Given the description of an element on the screen output the (x, y) to click on. 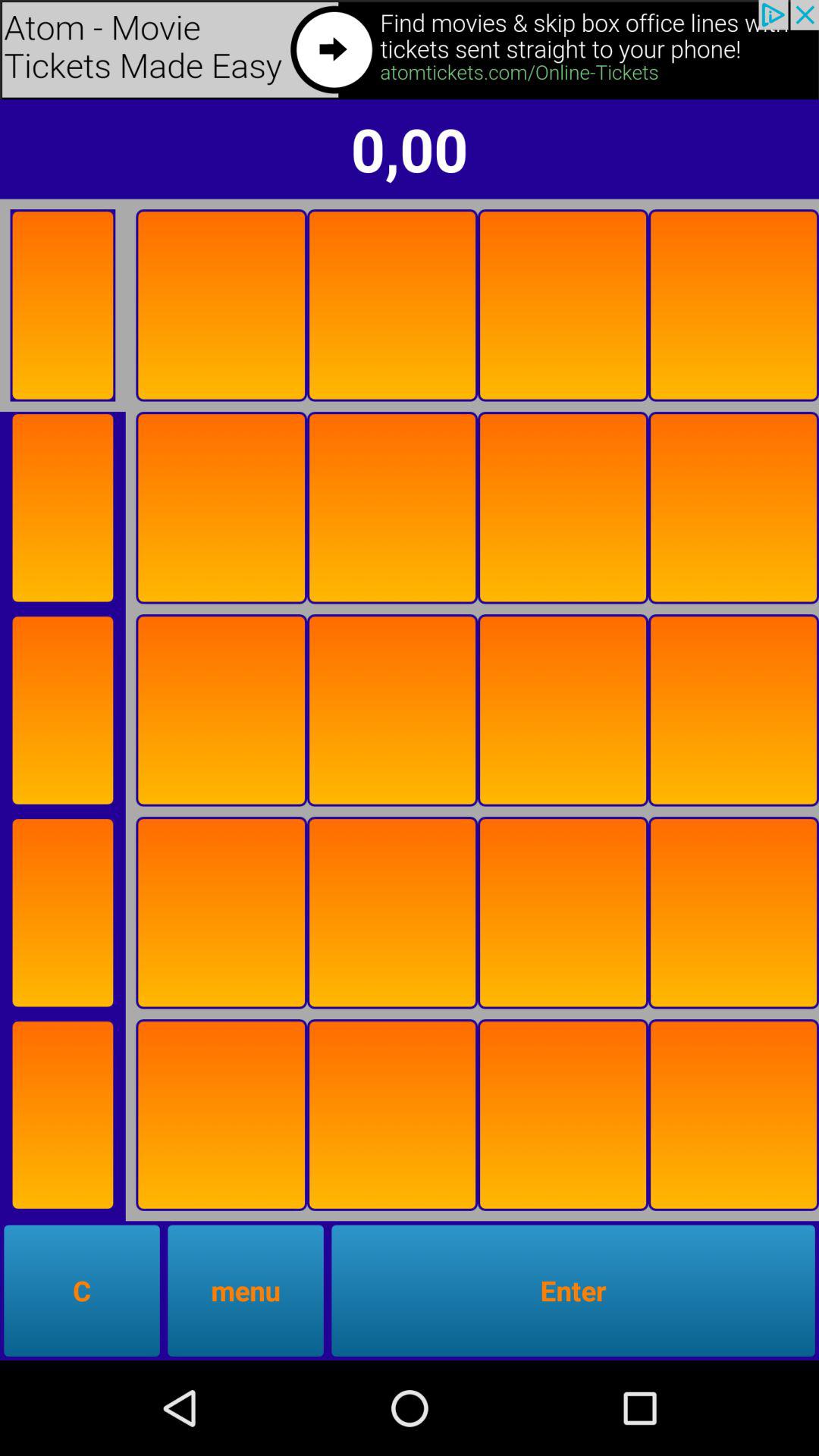
upper left hand box (62, 305)
